Given the description of an element on the screen output the (x, y) to click on. 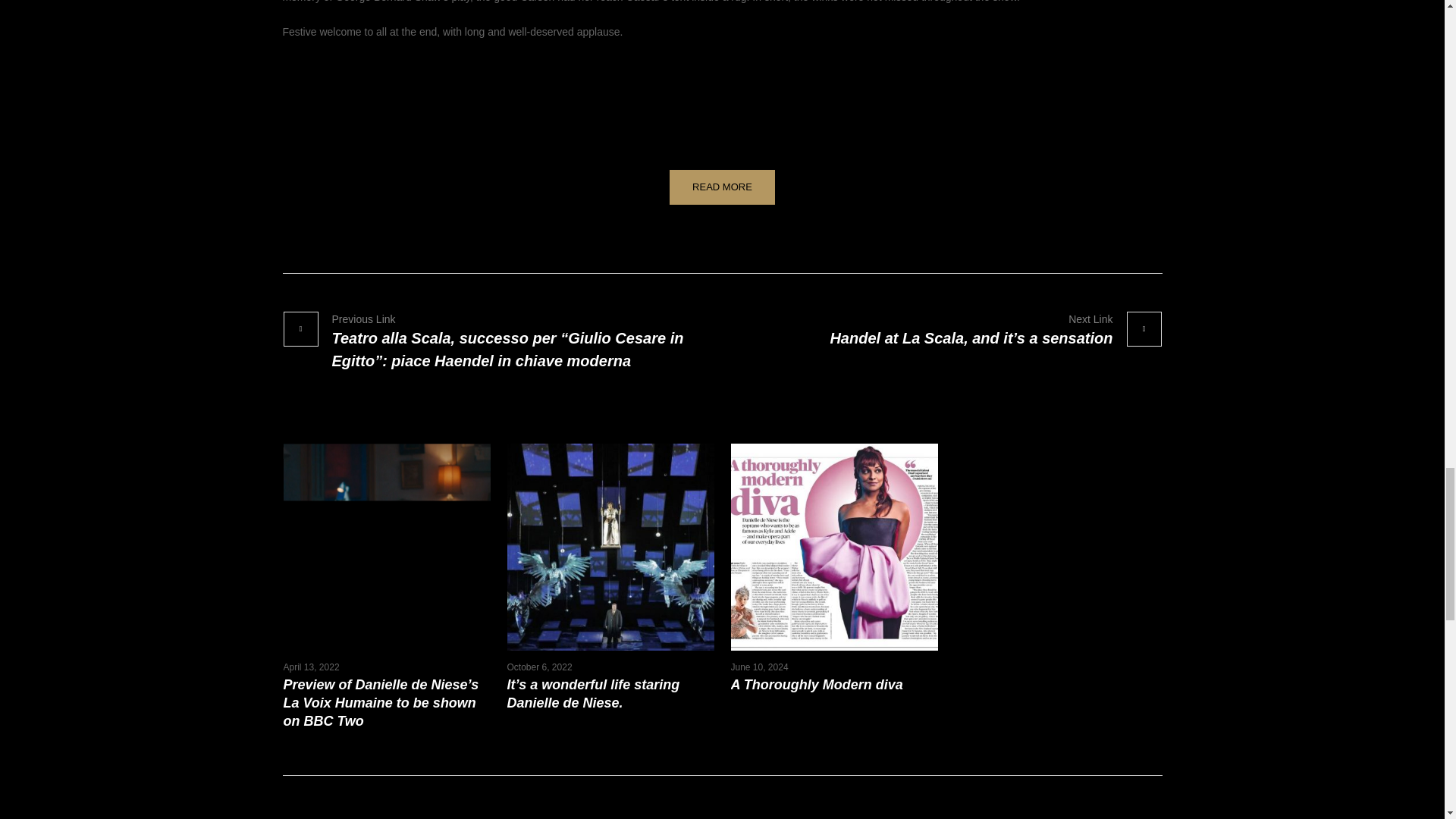
A Thoroughly Modern diva (833, 546)
A Thoroughly Modern diva (816, 684)
June 10, 2024 (759, 667)
READ MORE (721, 186)
October 6, 2022 (539, 667)
April 13, 2022 (311, 667)
